Given the description of an element on the screen output the (x, y) to click on. 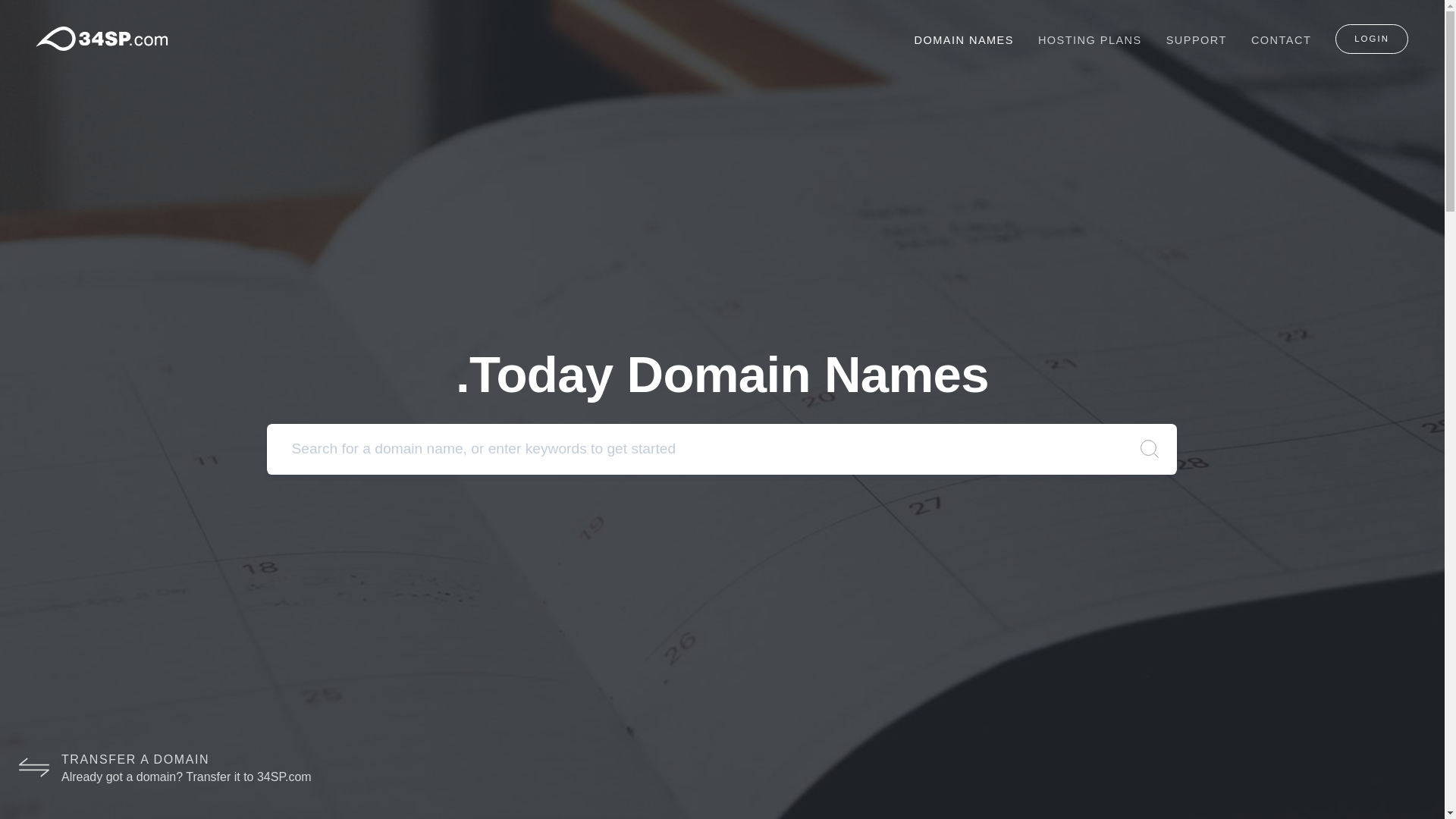
DOMAIN NAMES Element type: text (964, 40)
34SP.com Element type: text (102, 39)
CONTACT Element type: text (1281, 40)
LOGIN Element type: text (1371, 38)
SUPPORT Element type: text (1196, 40)
HOSTING PLANS Element type: text (1090, 40)
